Given the description of an element on the screen output the (x, y) to click on. 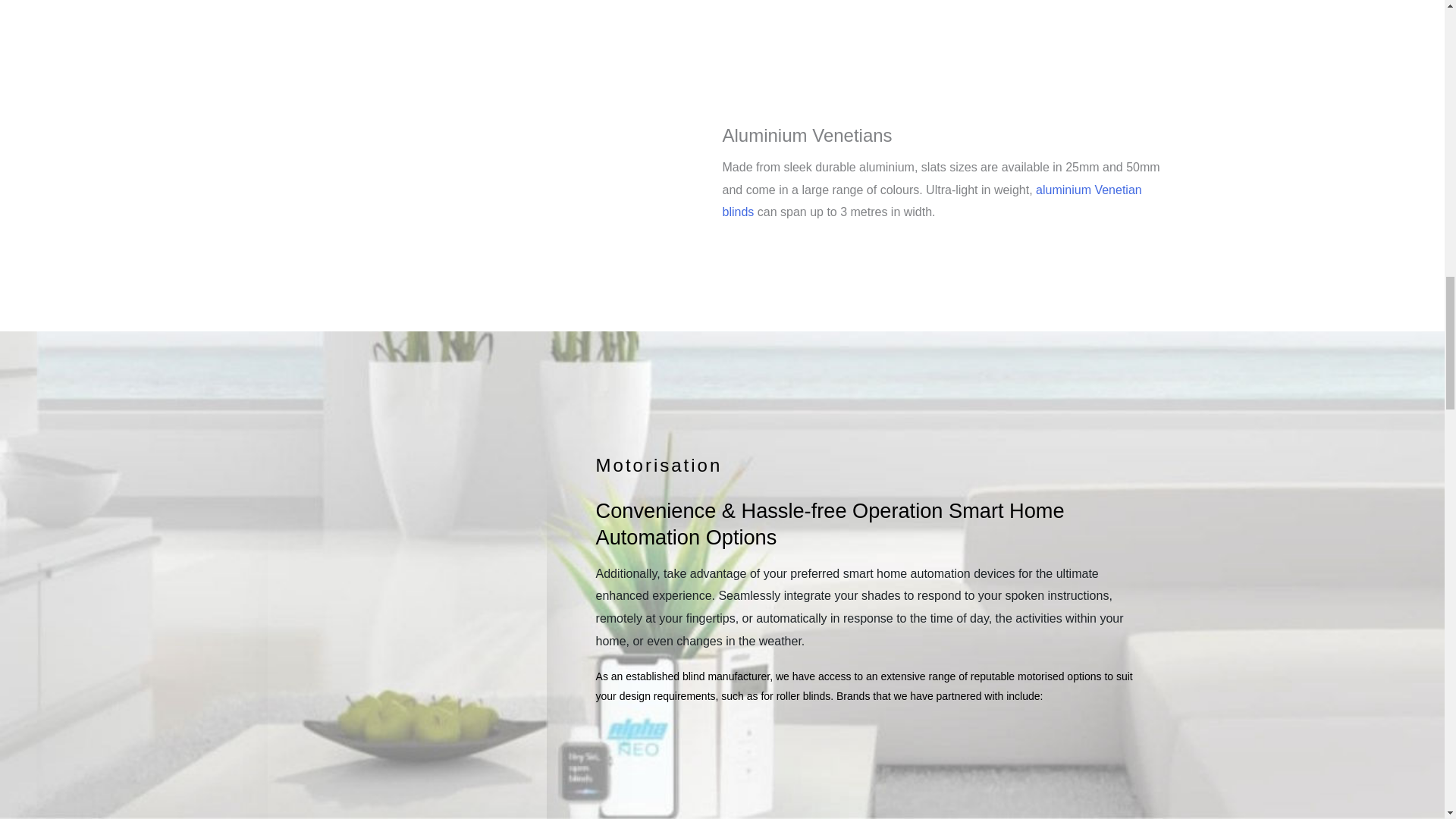
Aluminium venetian (483, 177)
Motorisation (658, 465)
Alpha (937, 777)
Motolux (1082, 777)
Automate (793, 777)
Somfy (650, 777)
Basswood venetian 3 (945, 11)
